Given the description of an element on the screen output the (x, y) to click on. 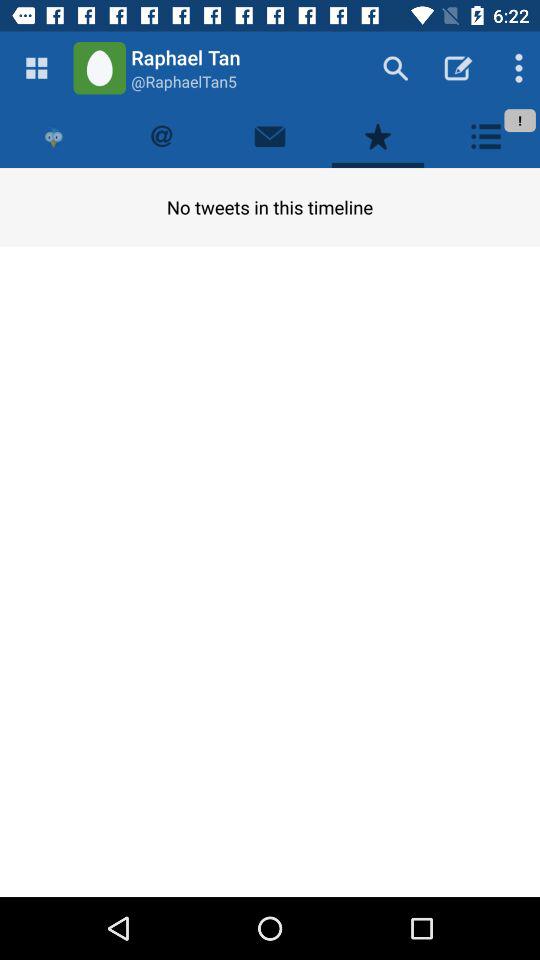
tap icon above the no tweets in (486, 136)
